Given the description of an element on the screen output the (x, y) to click on. 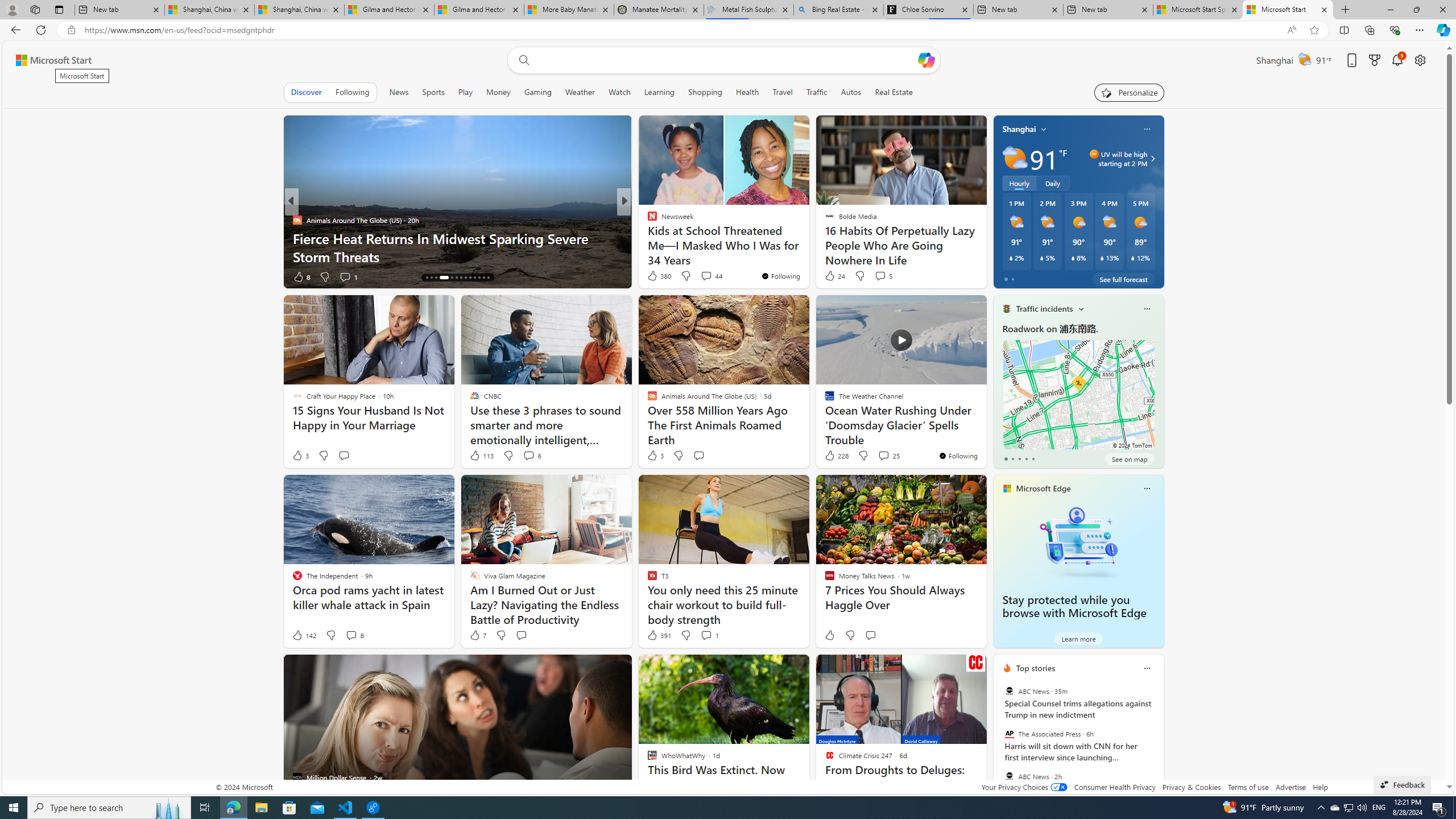
View comments 6 Comment (528, 455)
26 Like (652, 276)
Like (829, 634)
11 Ways to Open the Control Panel on Windows (807, 256)
AutomationID: tab-22 (470, 277)
142 Like (303, 634)
